Given the description of an element on the screen output the (x, y) to click on. 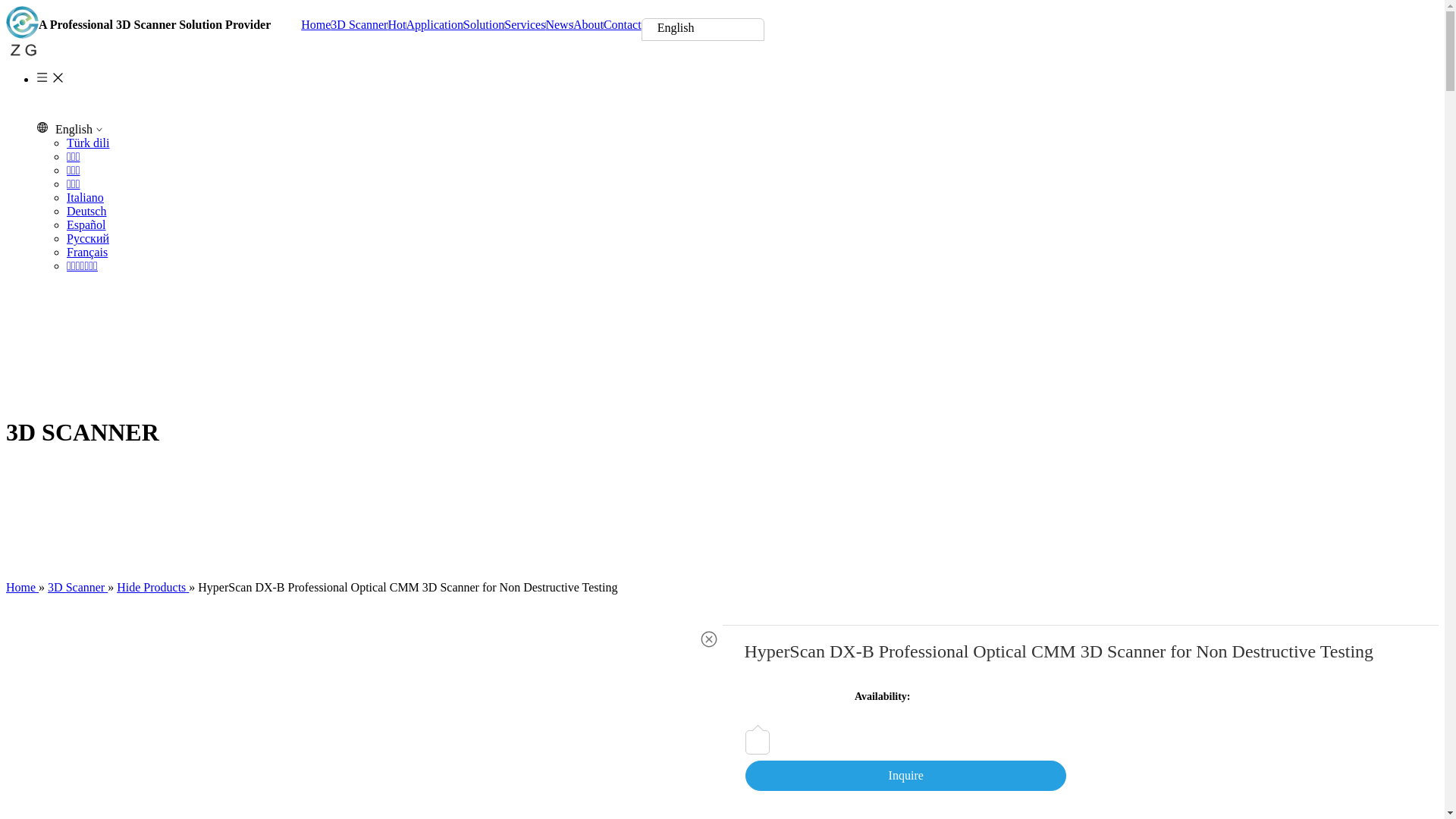
Inquire Element type: text (905, 775)
Italiano Element type: text (84, 197)
About Element type: text (588, 24)
Home Element type: text (22, 586)
Home Element type: text (315, 24)
Deutsch Element type: text (86, 210)
Hide Products Element type: text (152, 586)
News Element type: text (558, 24)
Solution Element type: text (483, 24)
Services Element type: text (524, 24)
Application Element type: text (434, 24)
3D Scanner Element type: text (77, 586)
Contact Element type: text (622, 24)
Hot Element type: text (396, 24)
3D Scanner Element type: text (358, 24)
